Given the description of an element on the screen output the (x, y) to click on. 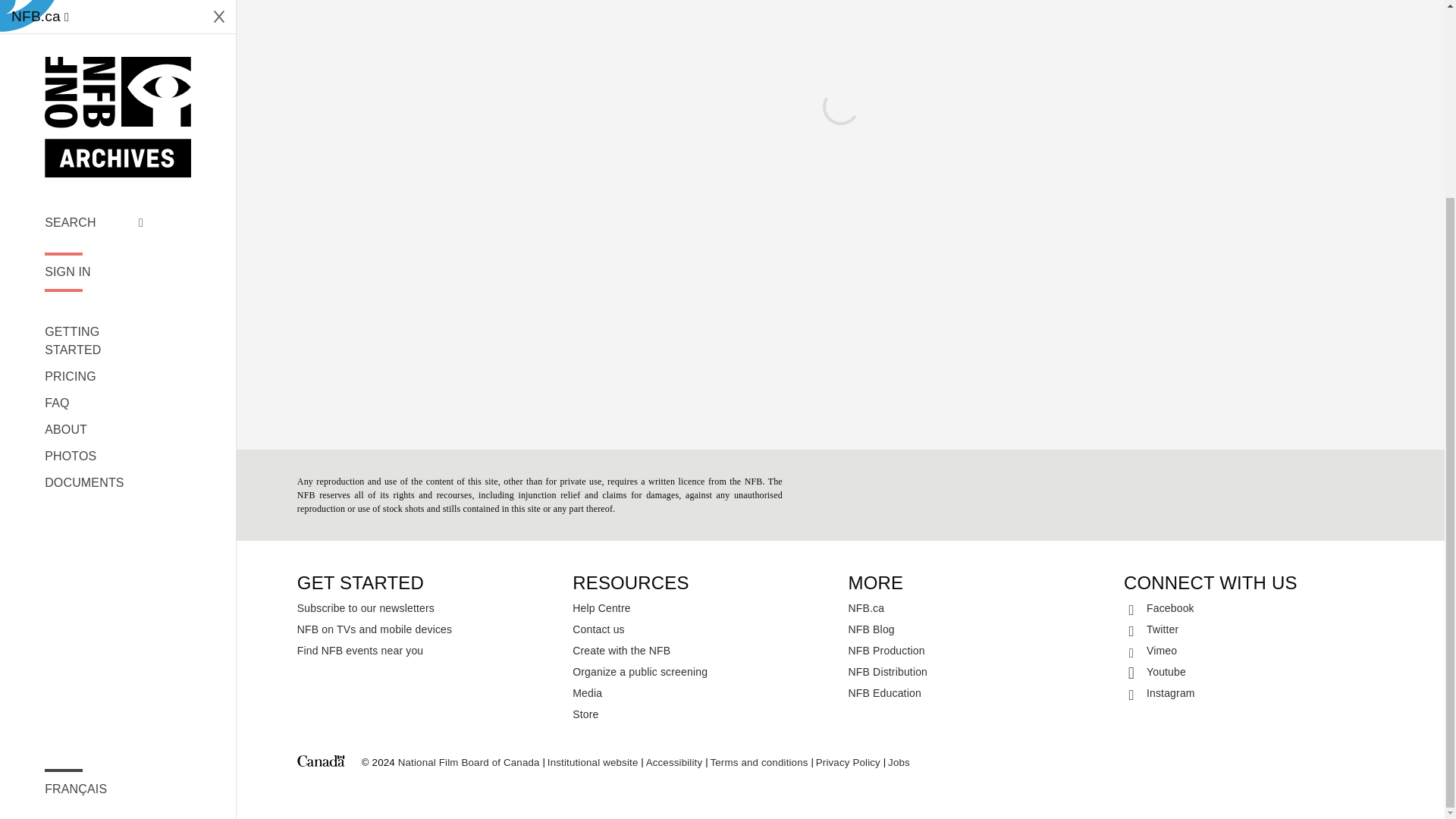
Store (702, 713)
NFB Education (978, 692)
Media (702, 692)
NFB Production (978, 649)
Create with the NFB (702, 649)
Organize a public screening (702, 671)
Subscribe to our newsletters (427, 608)
ABOUT (93, 178)
National Film Board of Canada (468, 762)
NFB Blog (978, 629)
